Given the description of an element on the screen output the (x, y) to click on. 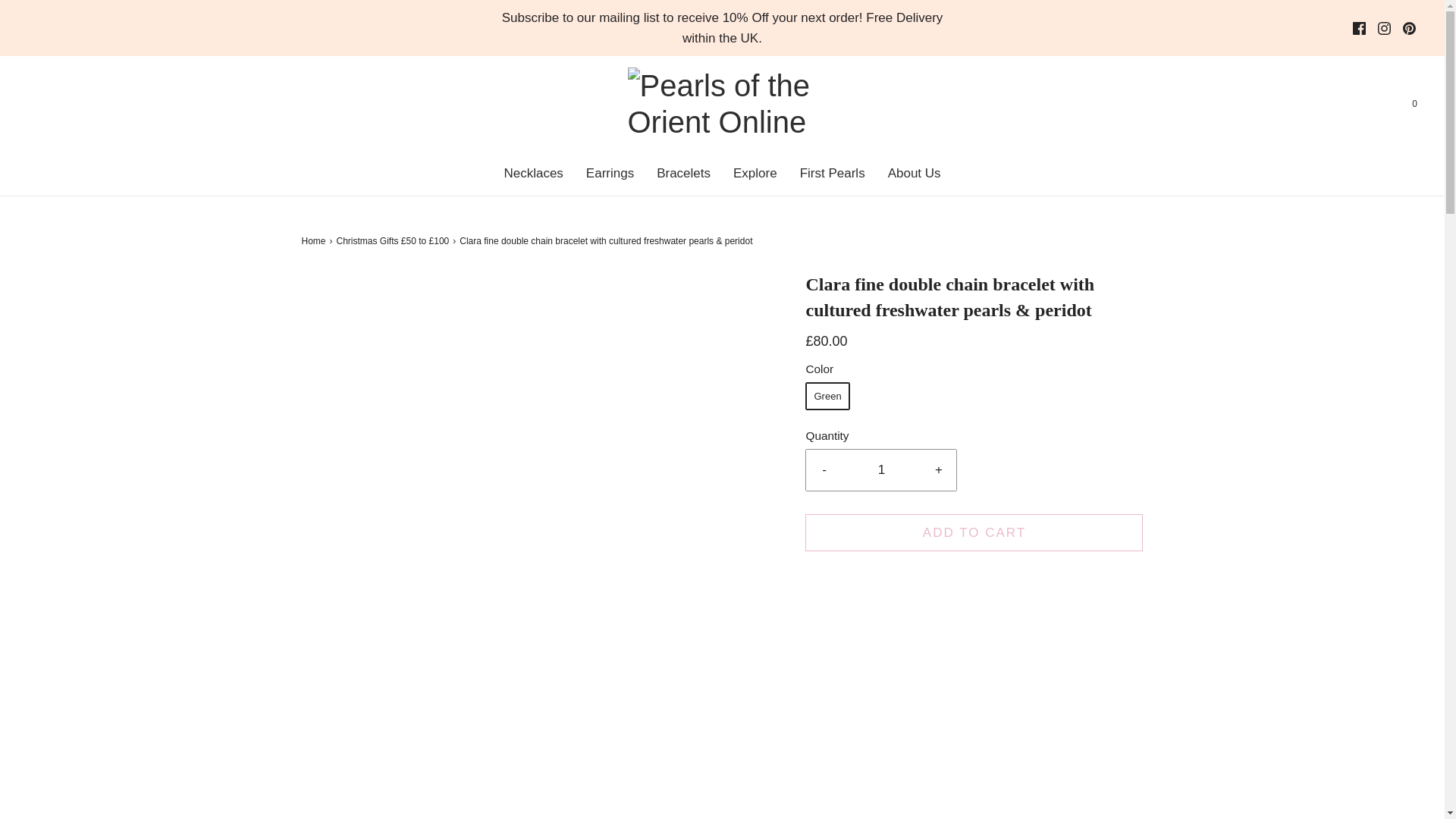
Instagram icon (1383, 28)
Facebook icon (1358, 28)
1 (881, 469)
Cart (1413, 104)
Instagram icon (1383, 27)
Pinterest icon (1409, 27)
Pinterest icon (1409, 28)
Necklaces (532, 172)
0 (1413, 104)
Facebook icon (1358, 27)
Back to the frontpage (315, 241)
